Given the description of an element on the screen output the (x, y) to click on. 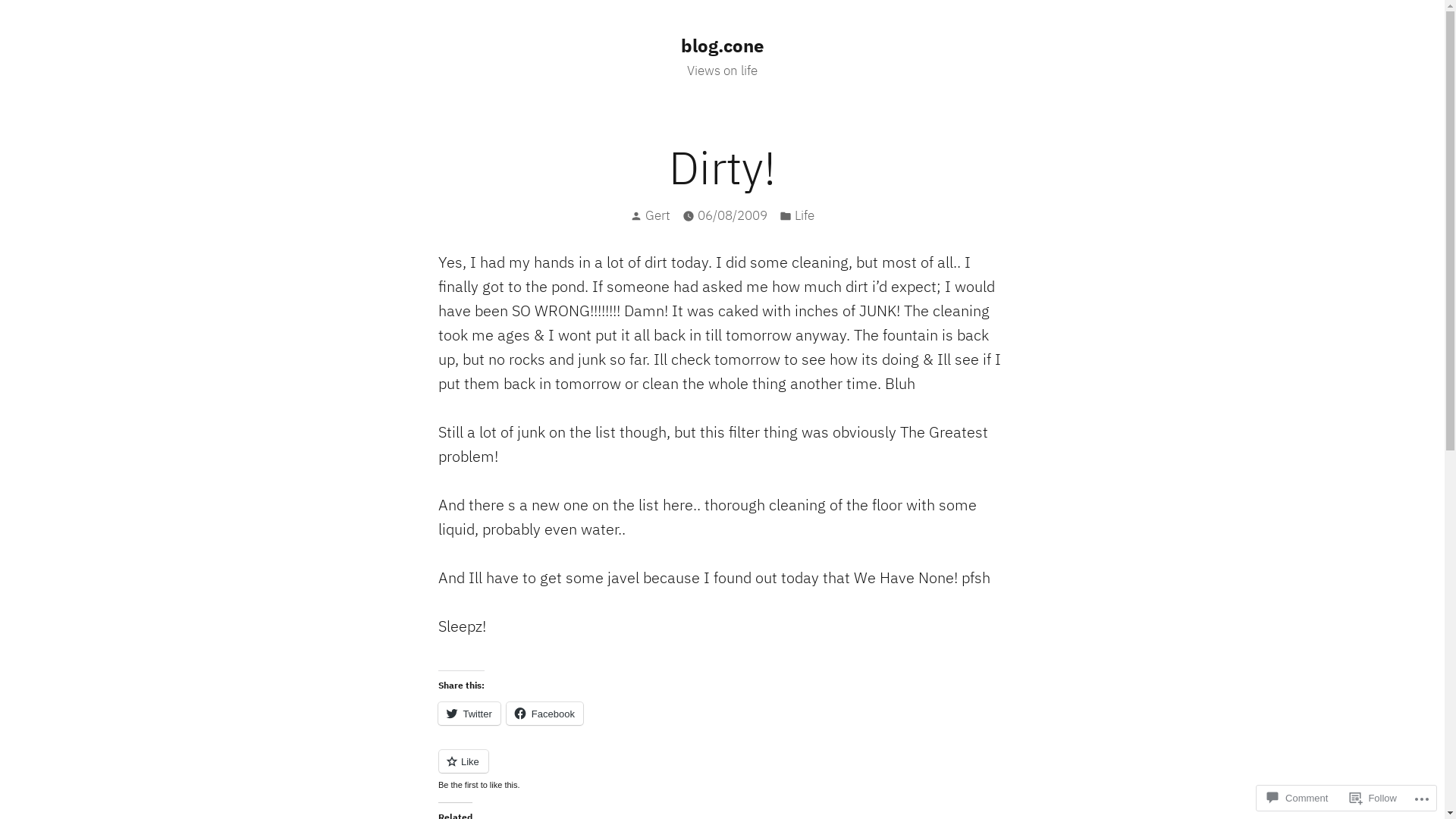
06/08/2009 Element type: text (732, 215)
Like or Reblog Element type: hover (722, 769)
Life Element type: text (804, 215)
Comment Element type: text (1297, 797)
Gert Element type: text (657, 215)
Facebook Element type: text (544, 713)
Twitter Element type: text (469, 713)
blog.cone Element type: text (721, 45)
Follow Element type: text (1372, 797)
